Given the description of an element on the screen output the (x, y) to click on. 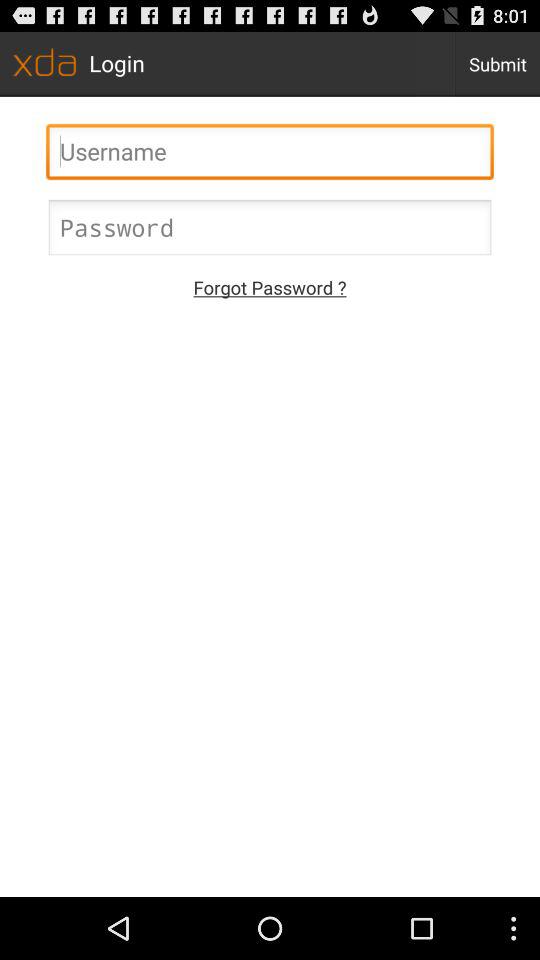
flip until forgot password ? item (269, 286)
